Given the description of an element on the screen output the (x, y) to click on. 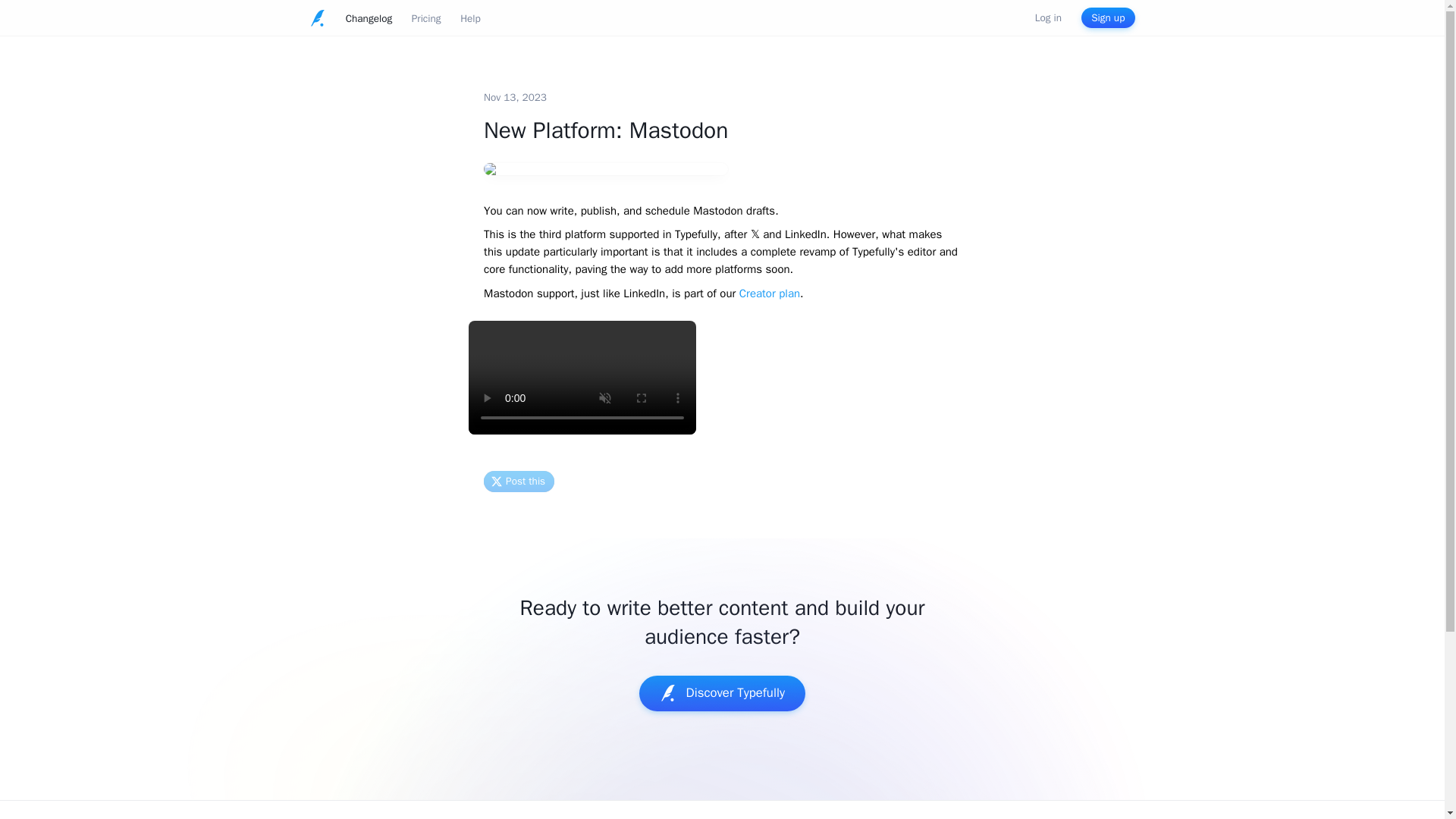
Log in (1048, 18)
Help (470, 18)
Post this (518, 478)
Sign up (1108, 17)
Pricing (426, 18)
New Platform: Mastodon (605, 148)
Discover Typefully (722, 693)
Changelog (368, 18)
Changelog (368, 18)
Creator plan (769, 293)
Help (470, 18)
Post this (518, 481)
Pricing (426, 18)
